Given the description of an element on the screen output the (x, y) to click on. 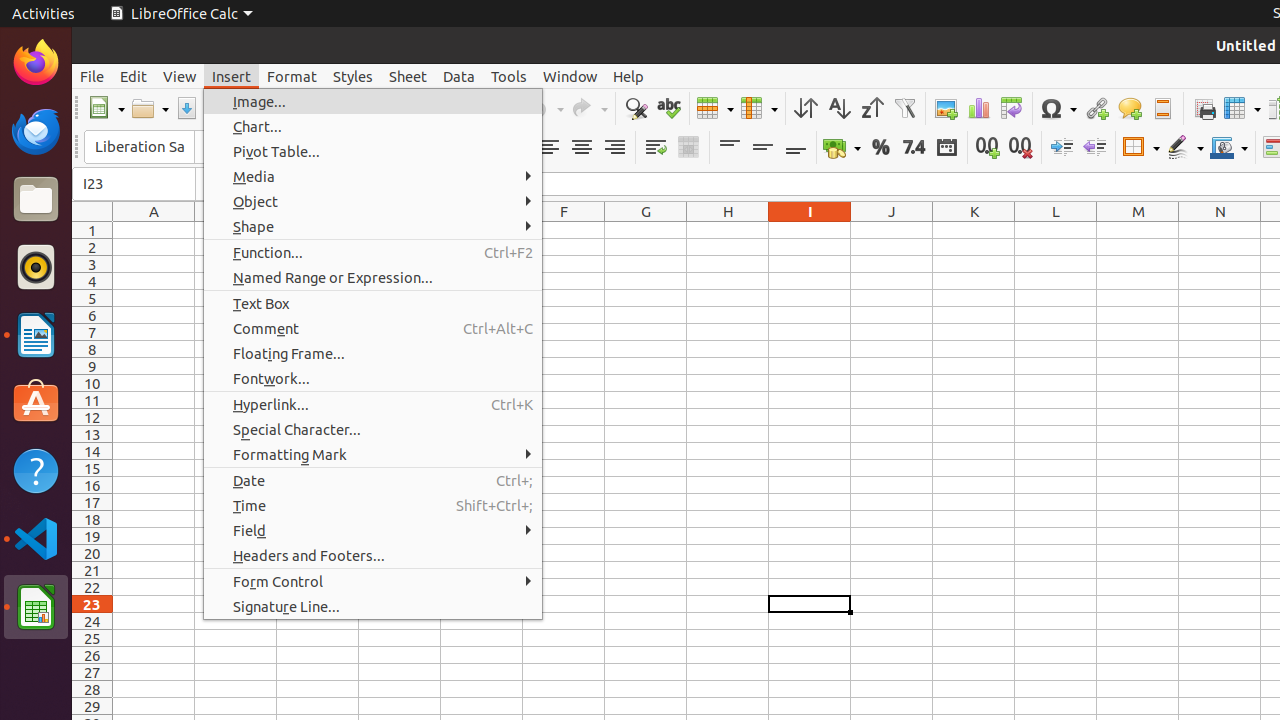
Fontwork... Element type: menu-item (373, 378)
Headers and Footers Element type: push-button (1162, 108)
